Given the description of an element on the screen output the (x, y) to click on. 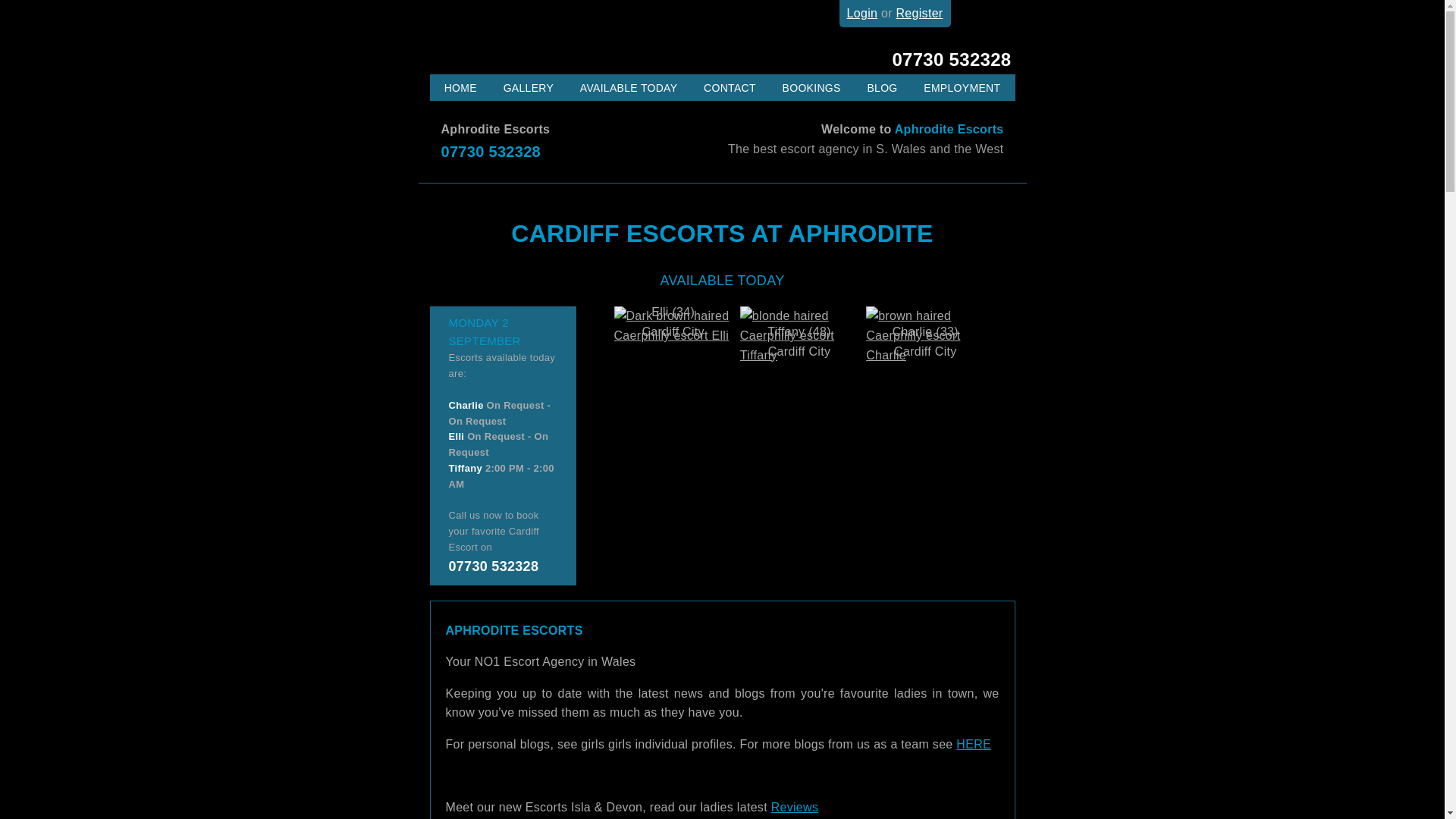
Tiffany  (466, 468)
Elli (672, 311)
BOOKINGS (811, 88)
Available today (628, 88)
Register (919, 12)
HOME (459, 88)
AVAILABLE TODAY (628, 88)
Charlie (465, 405)
Tiffany  (799, 331)
EMPLOYMENT (961, 88)
